Given the description of an element on the screen output the (x, y) to click on. 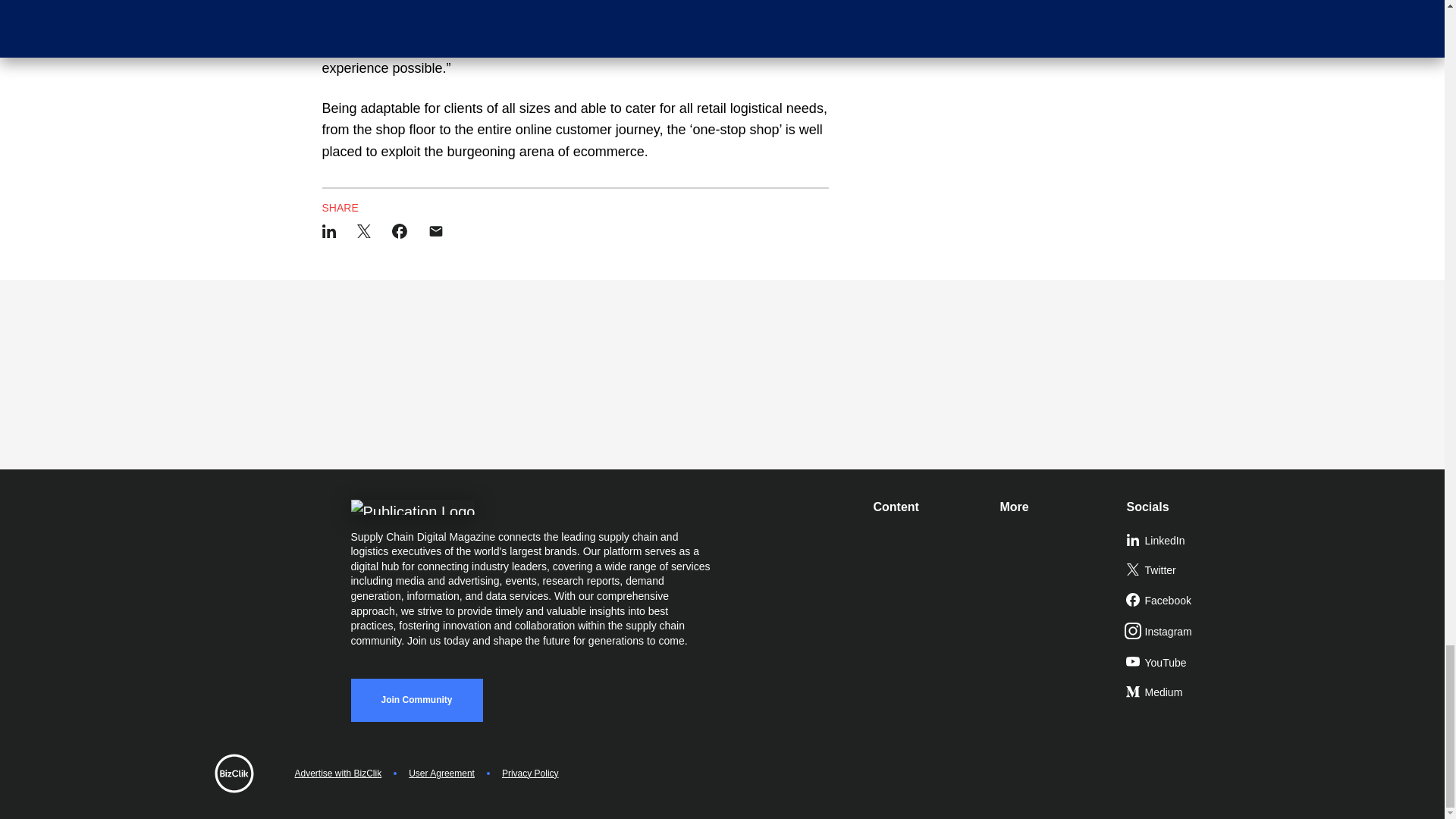
YouTube (1182, 663)
Twitter (1182, 571)
Advertise with BizClik (337, 773)
Privacy Policy (530, 773)
Instagram (1182, 632)
Join Community (415, 699)
User Agreement (441, 773)
Medium (1182, 693)
LinkedIn (1182, 541)
Facebook (1182, 601)
